Given the description of an element on the screen output the (x, y) to click on. 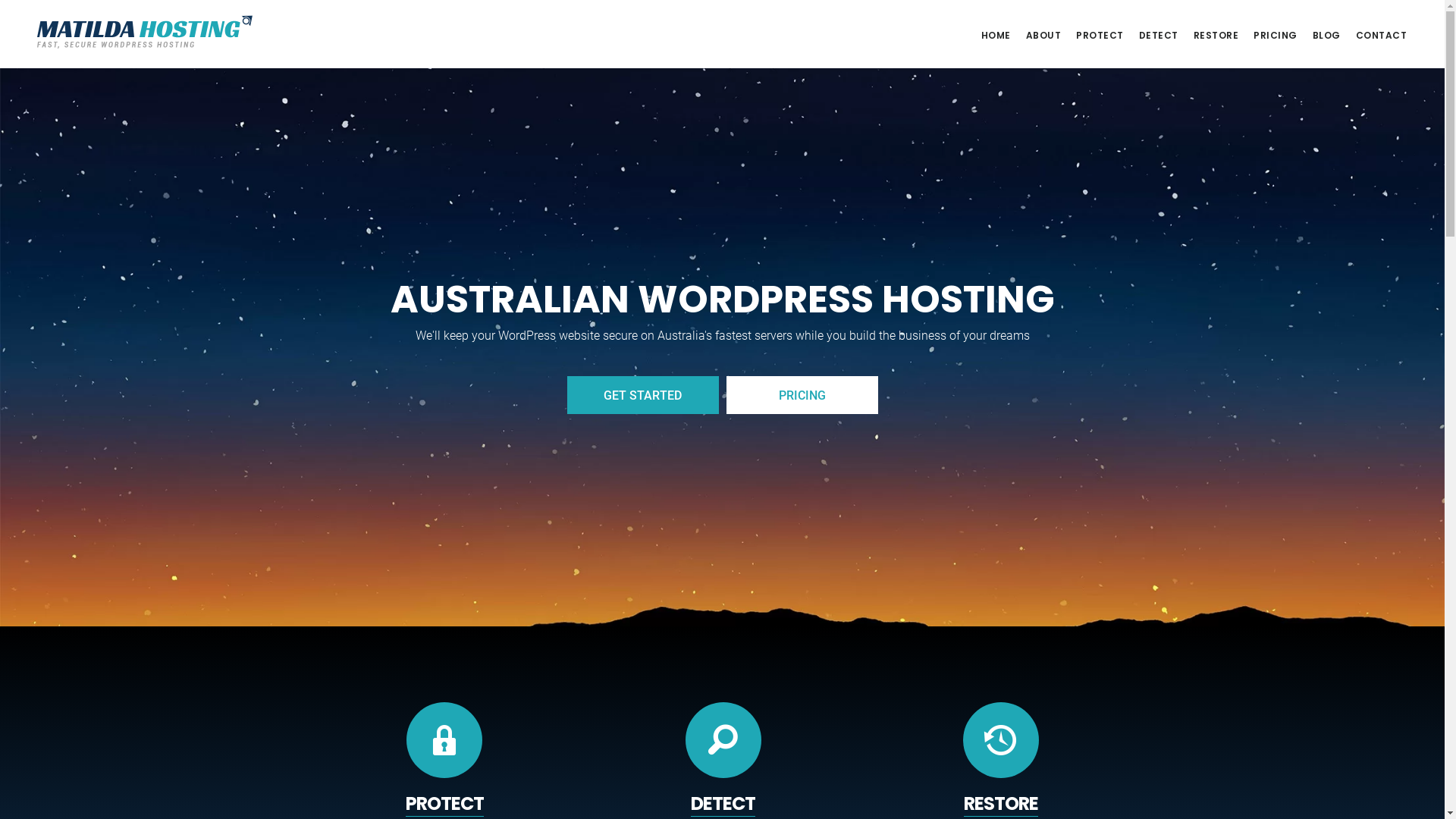
PROTECT Element type: text (444, 803)
MATILDA HOSTING | FAST, SAFE WORDPRESS WEB HOSTING Element type: text (143, 32)
DETECT Element type: text (1158, 35)
DETECT Element type: text (722, 803)
RESTORE Element type: text (1216, 35)
PROTECT Element type: text (1099, 35)
HOME Element type: text (995, 35)
ABOUT Element type: text (1042, 35)
Skip to main content Element type: text (0, 0)
RESTORE Element type: text (1000, 803)
CONTACT Element type: text (1381, 35)
GET STARTED Element type: text (642, 395)
BLOG Element type: text (1325, 35)
PRICING Element type: text (802, 395)
PRICING Element type: text (1275, 35)
